Given the description of an element on the screen output the (x, y) to click on. 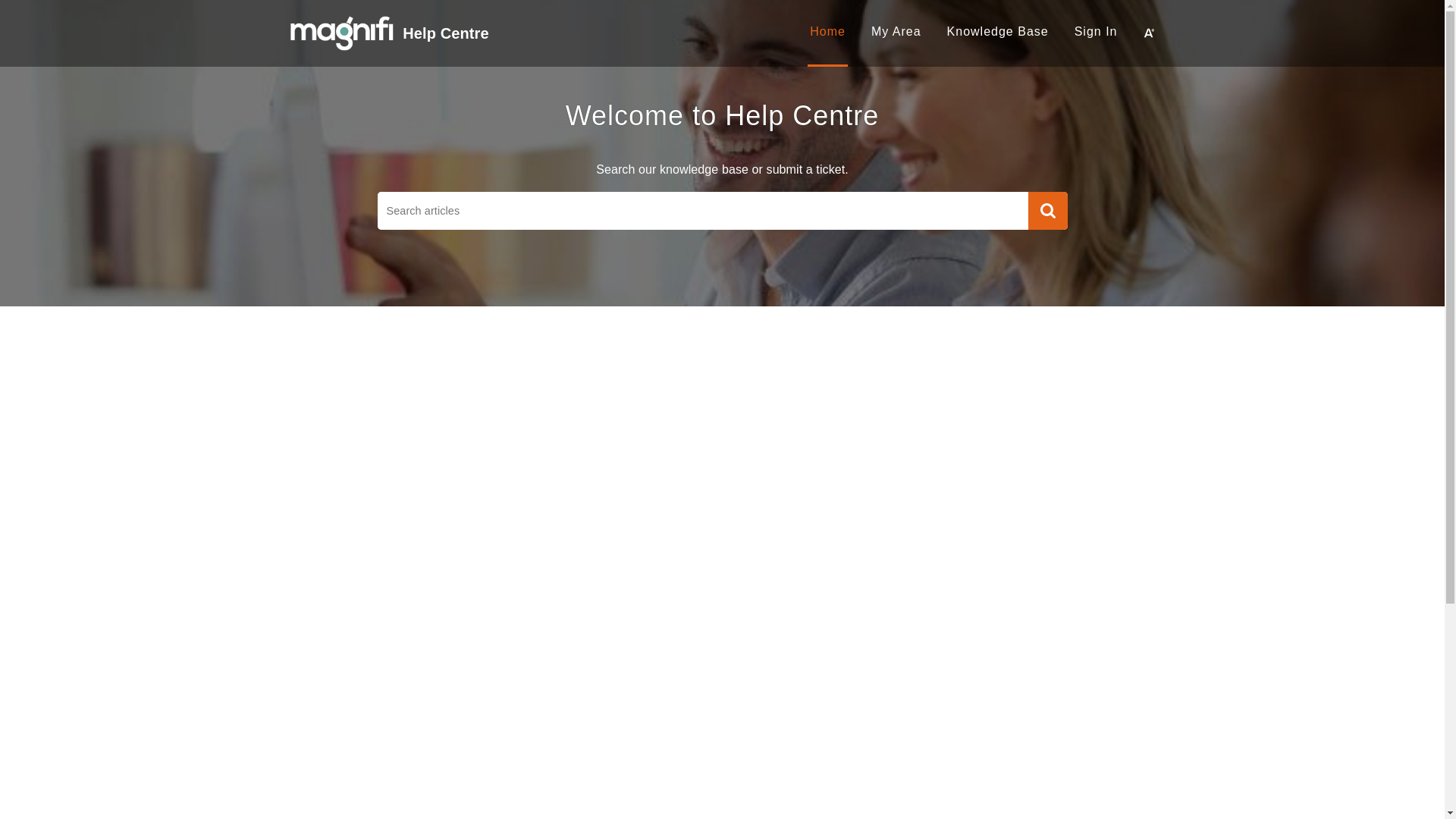
Sign In Element type: text (1095, 31)
Search Element type: hover (1047, 210)
Knowledge Base Element type: text (997, 31)
My Area Element type: text (896, 31)
Home Element type: text (827, 31)
